Given the description of an element on the screen output the (x, y) to click on. 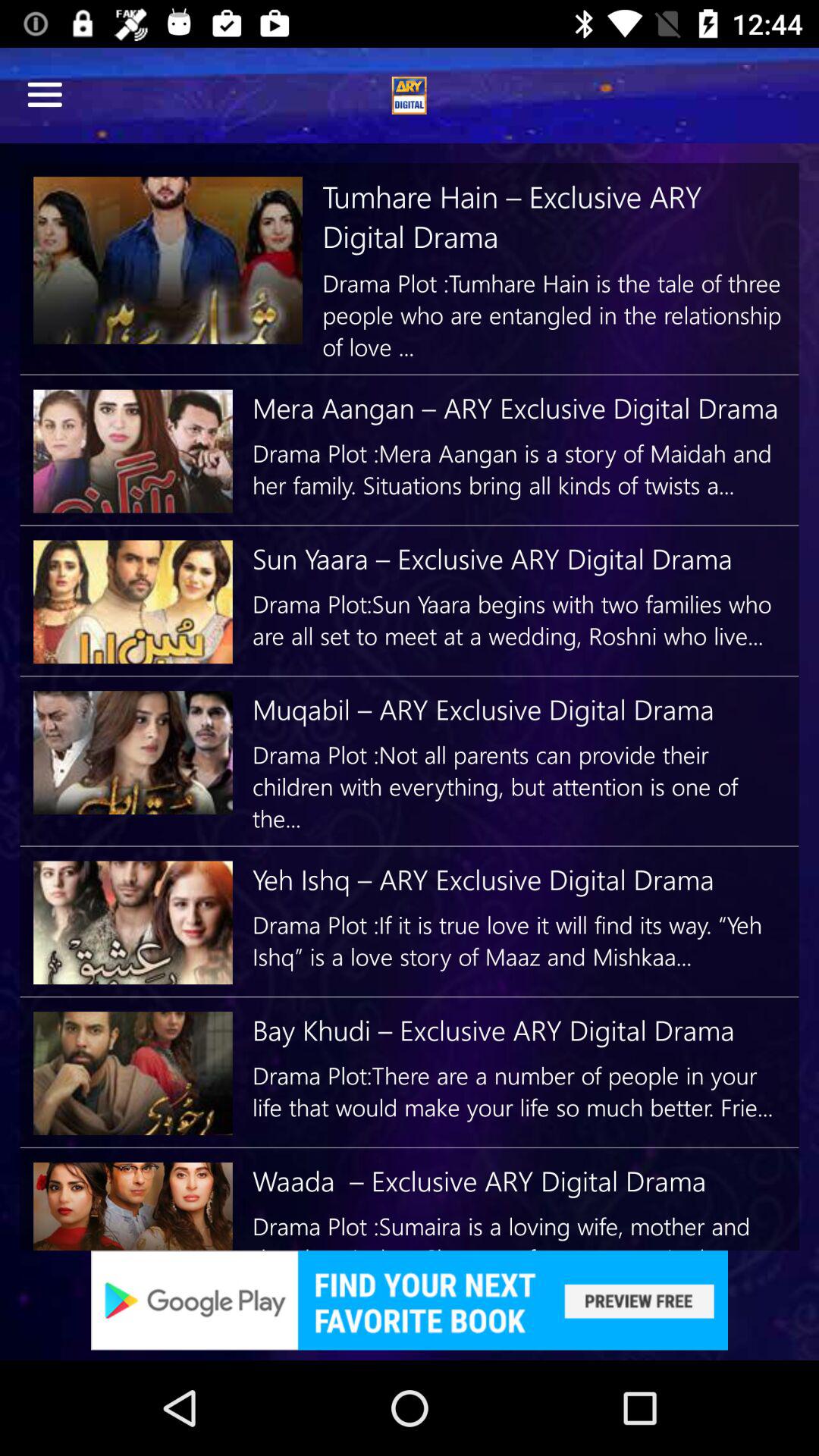
select the third image from the top left corner of the web page (132, 601)
click on sixth image (132, 1073)
